Given the description of an element on the screen output the (x, y) to click on. 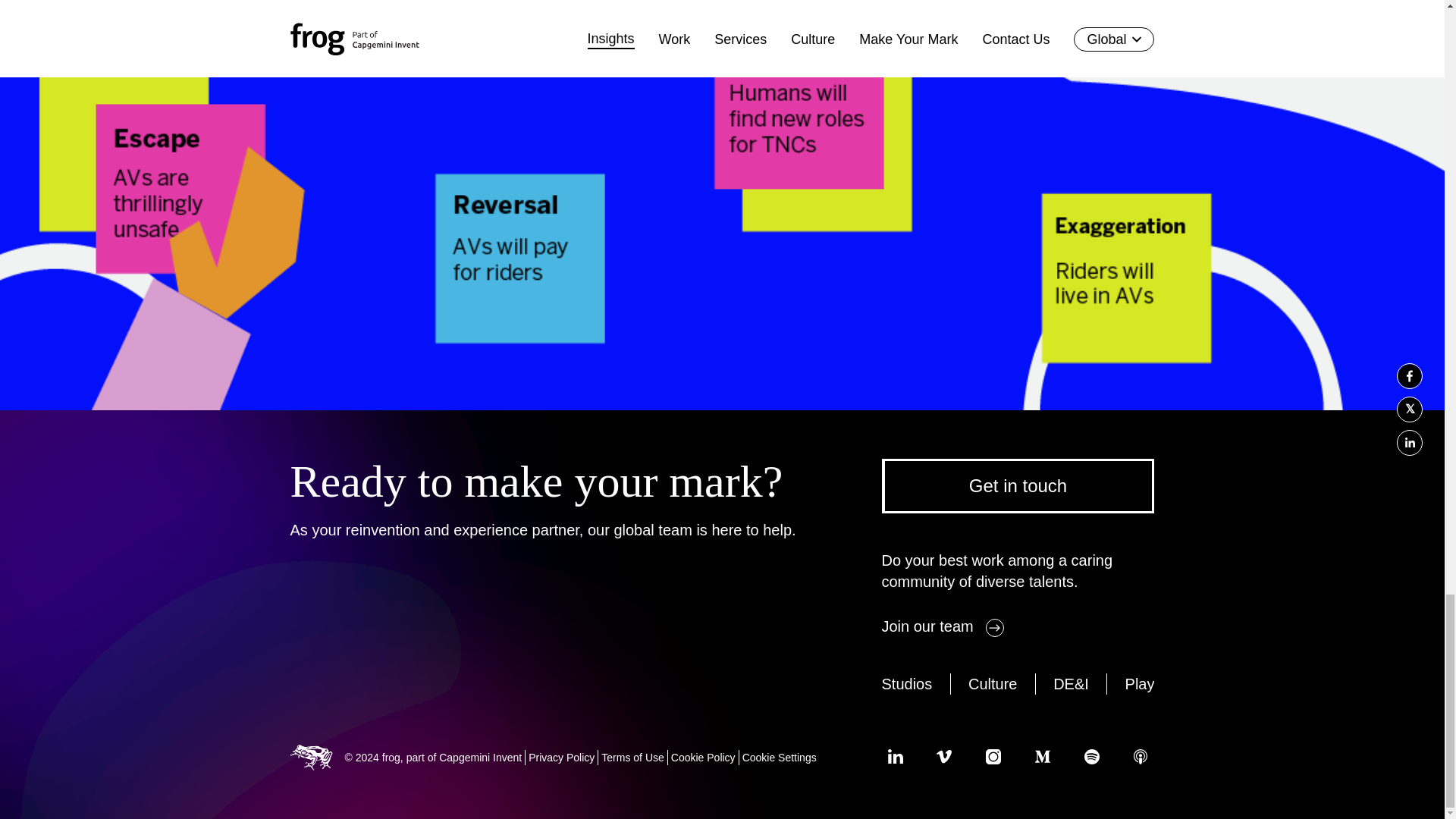
Get in touch (1017, 485)
Join our team (941, 626)
Play (1139, 683)
Studios (905, 683)
Culture (992, 683)
